Given the description of an element on the screen output the (x, y) to click on. 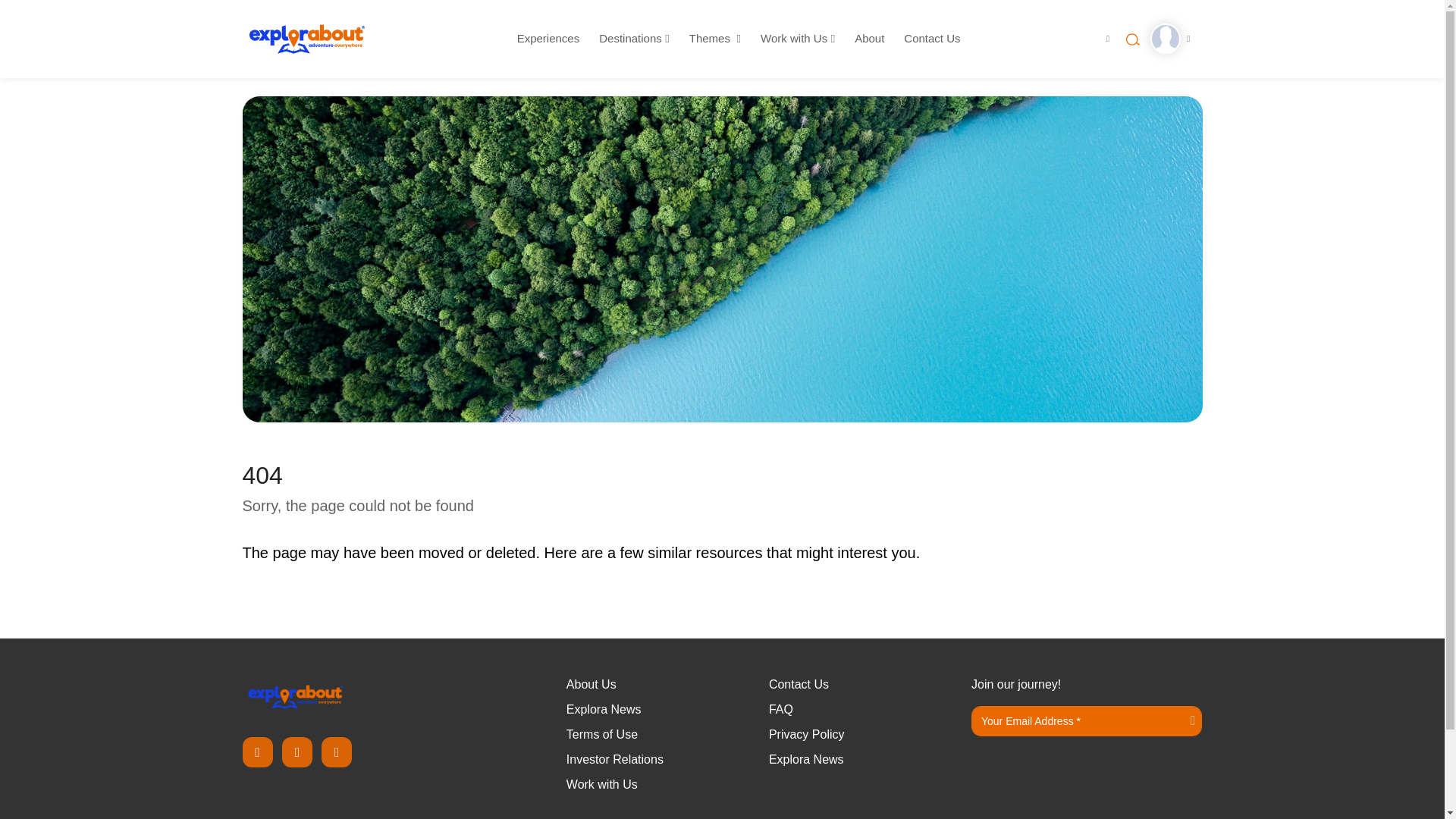
Contact Us (932, 38)
About (868, 38)
facebook (258, 752)
Work with Us (797, 38)
Experiences (548, 38)
Themes (714, 38)
instagram (297, 752)
Destinations (633, 38)
